Given the description of an element on the screen output the (x, y) to click on. 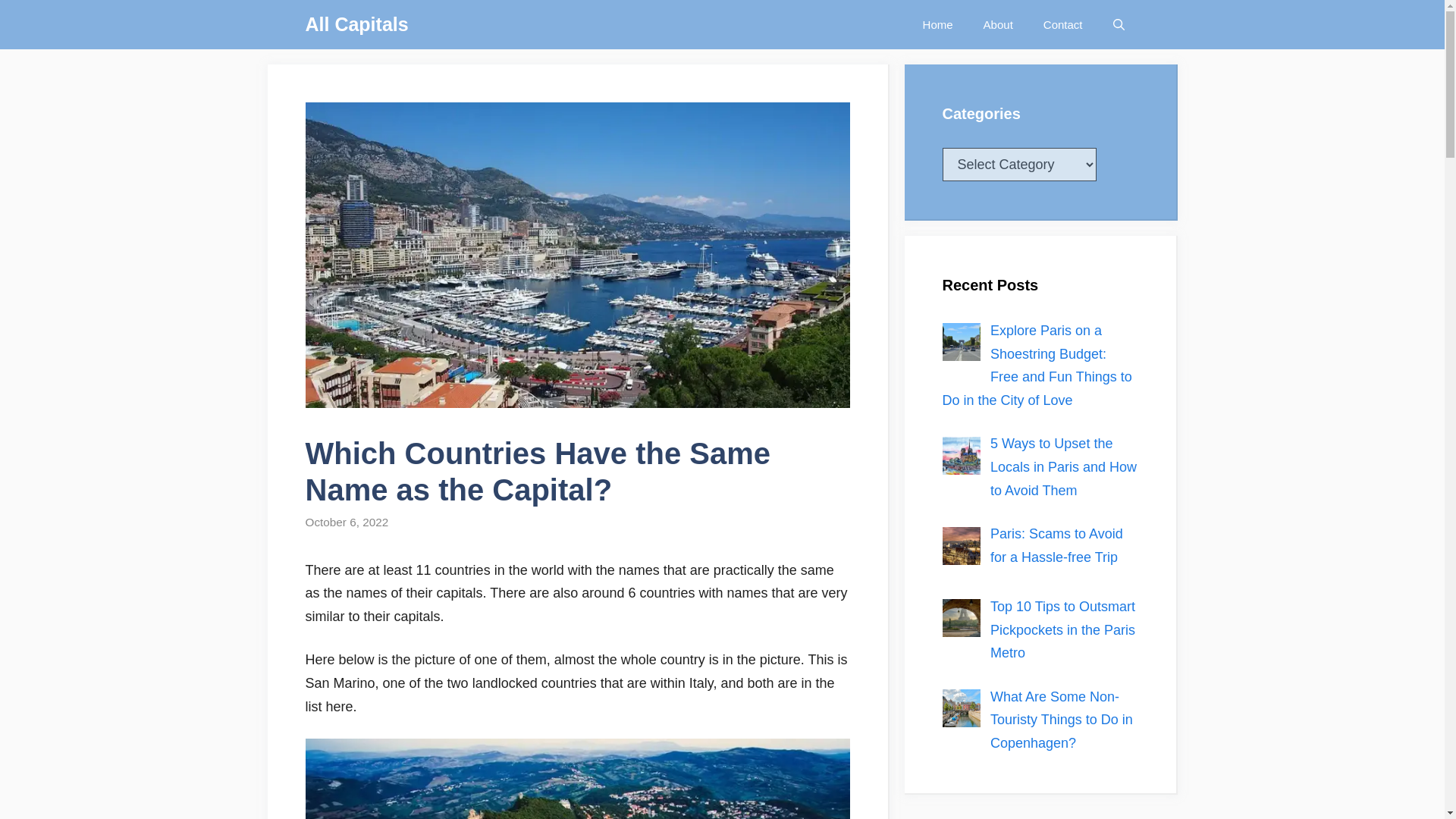
Home (937, 24)
All Capitals (355, 24)
About (997, 24)
Contact (1062, 24)
